Given the description of an element on the screen output the (x, y) to click on. 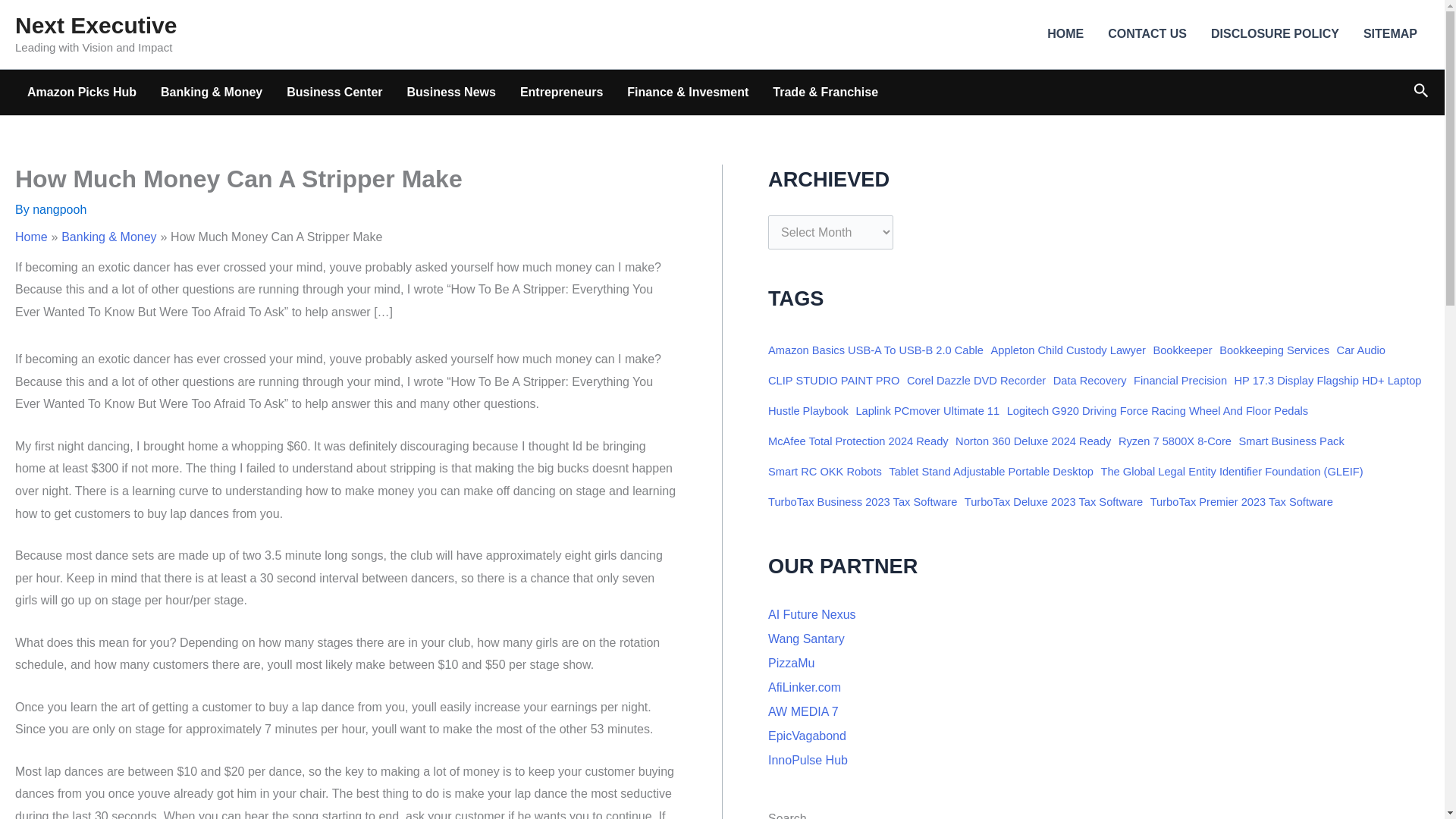
CONTACT US (1147, 34)
Business Center (334, 92)
Business News (451, 92)
HOME (1065, 34)
Entrepreneurs (561, 92)
View all posts by nangpooh (58, 209)
SITEMAP (1390, 34)
Next Executive (95, 25)
Home (31, 236)
Amazon Picks Hub (81, 92)
